Given the description of an element on the screen output the (x, y) to click on. 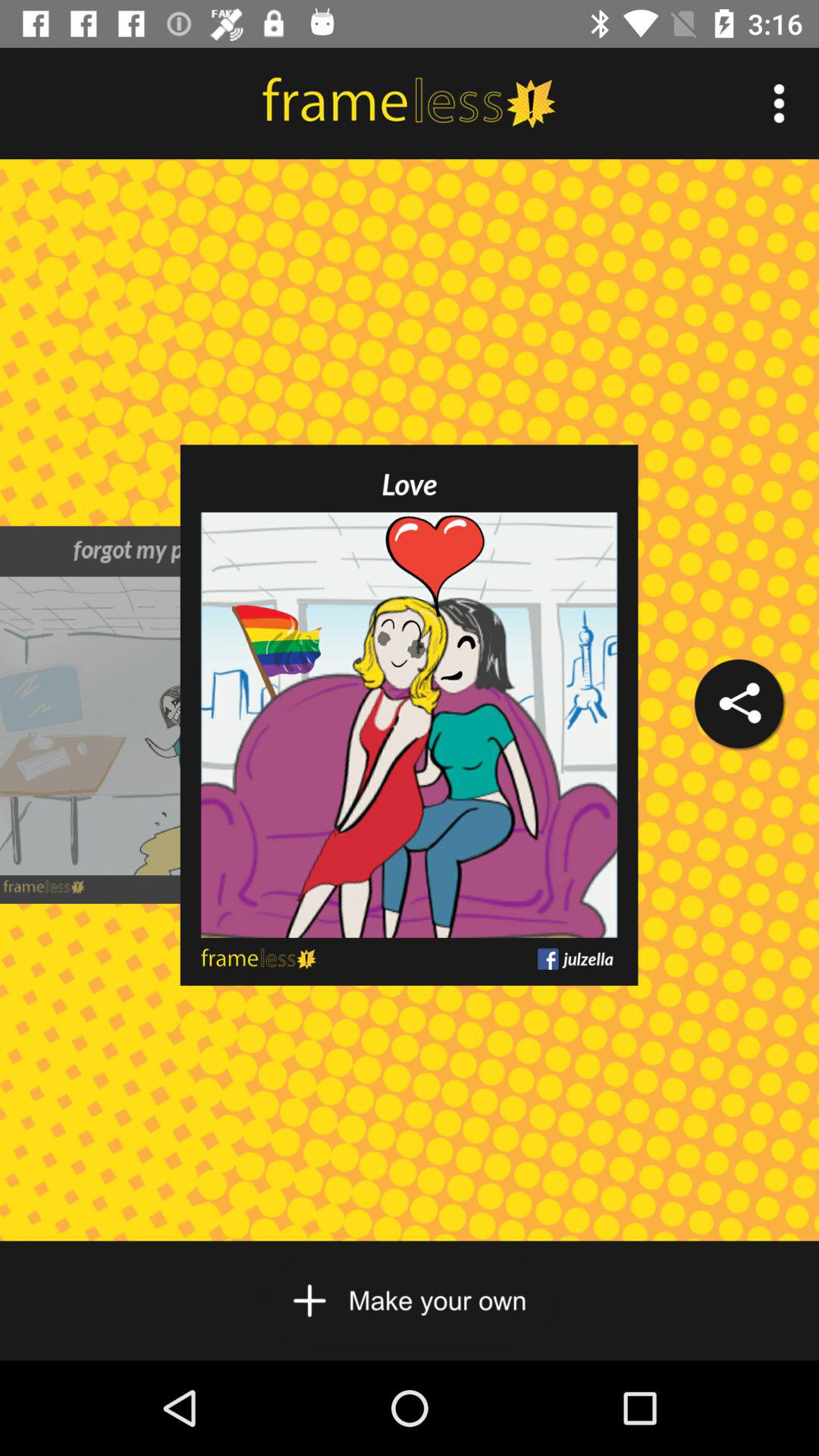
see more options (779, 103)
